Given the description of an element on the screen output the (x, y) to click on. 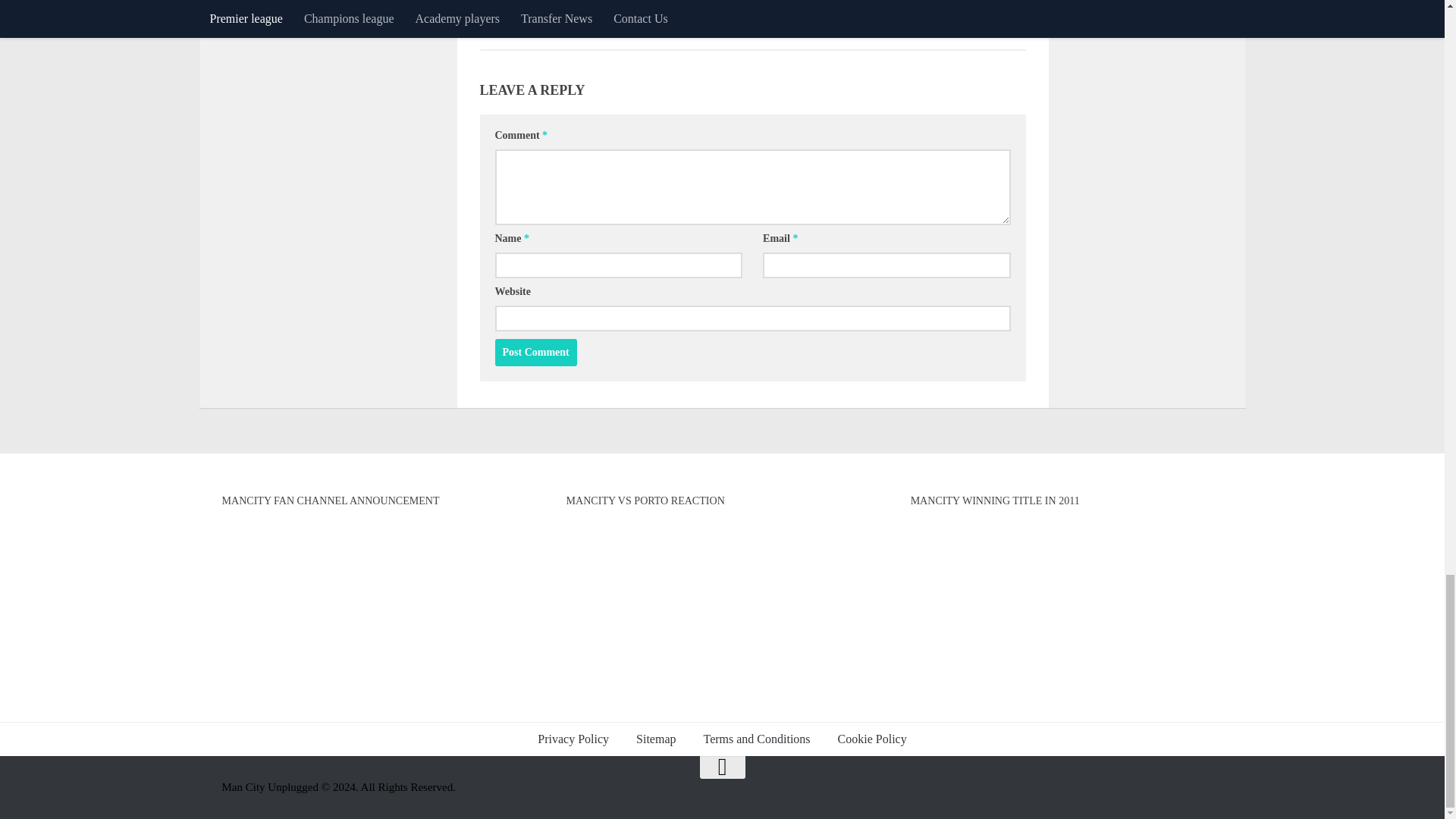
Post Comment (535, 351)
Posts by Mohan Krishna Ghanta (930, 28)
Post Comment (535, 351)
MOHAN KRISHNA GHANTA (930, 28)
MOHAN KRISHNA GHANTA (566, 28)
Posts by Mohan Krishna Ghanta (748, 28)
MOHAN KRISHNA GHANTA (748, 28)
Posts by Mohan Krishna Ghanta (566, 28)
New Manchester City Fan Channel Announcement (377, 608)
